Given the description of an element on the screen output the (x, y) to click on. 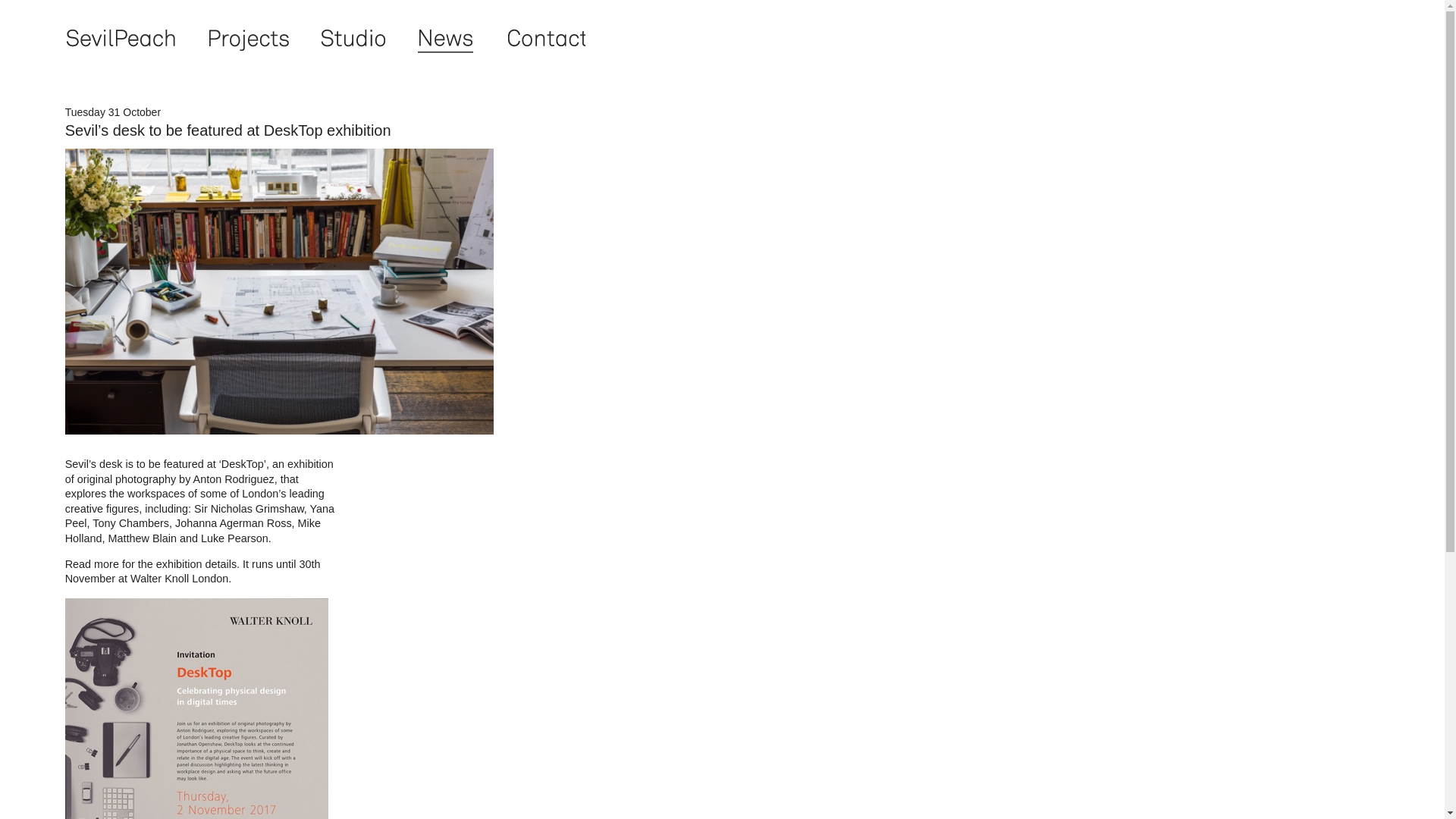
Studio (353, 38)
Projects (248, 38)
Sevil Peach (119, 38)
Contact (545, 38)
News (445, 38)
